Given the description of an element on the screen output the (x, y) to click on. 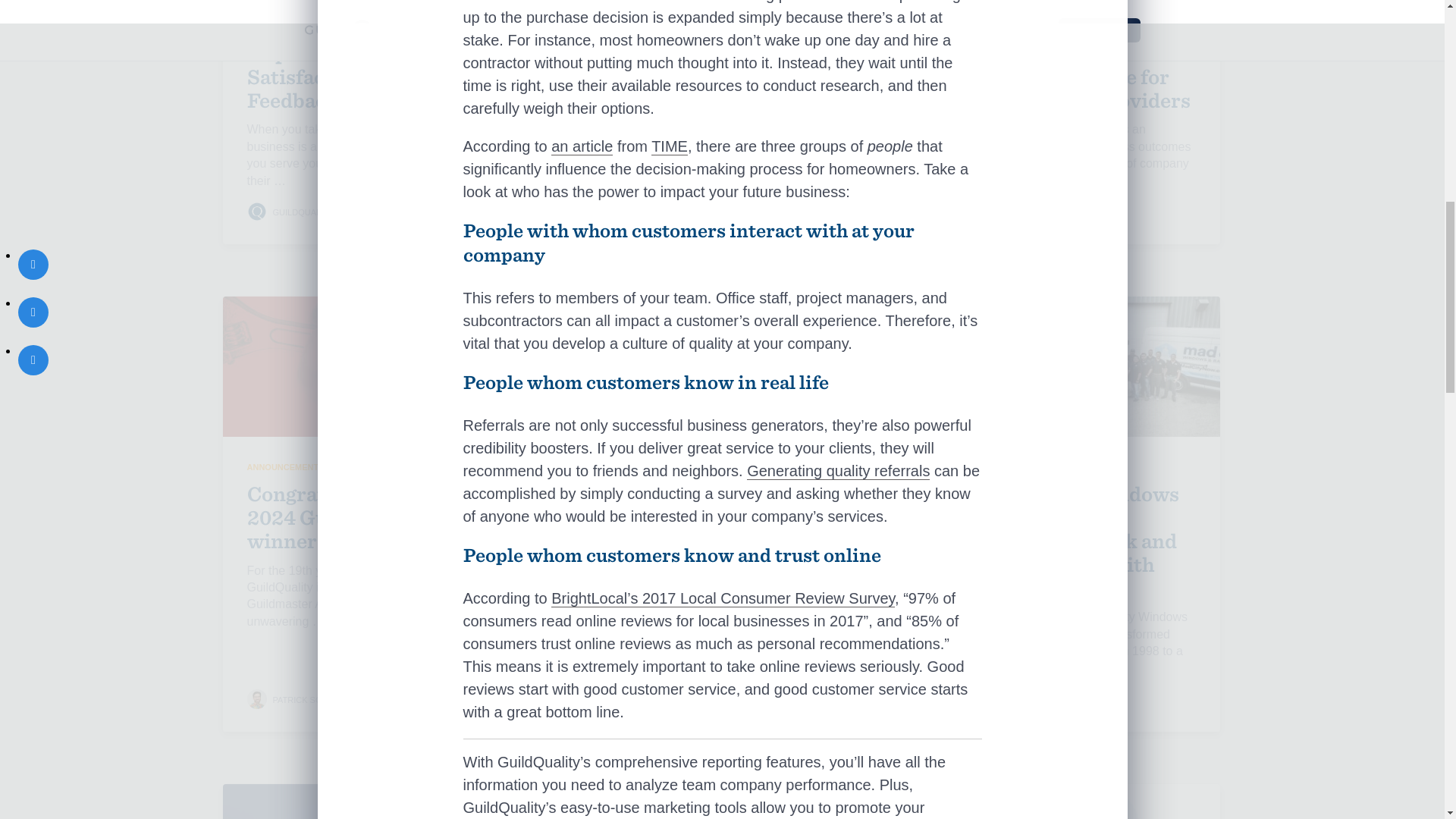
Generating quality referrals (838, 470)
an article (581, 146)
Generating Quality Referrals (838, 470)
TIME (668, 146)
